Given the description of an element on the screen output the (x, y) to click on. 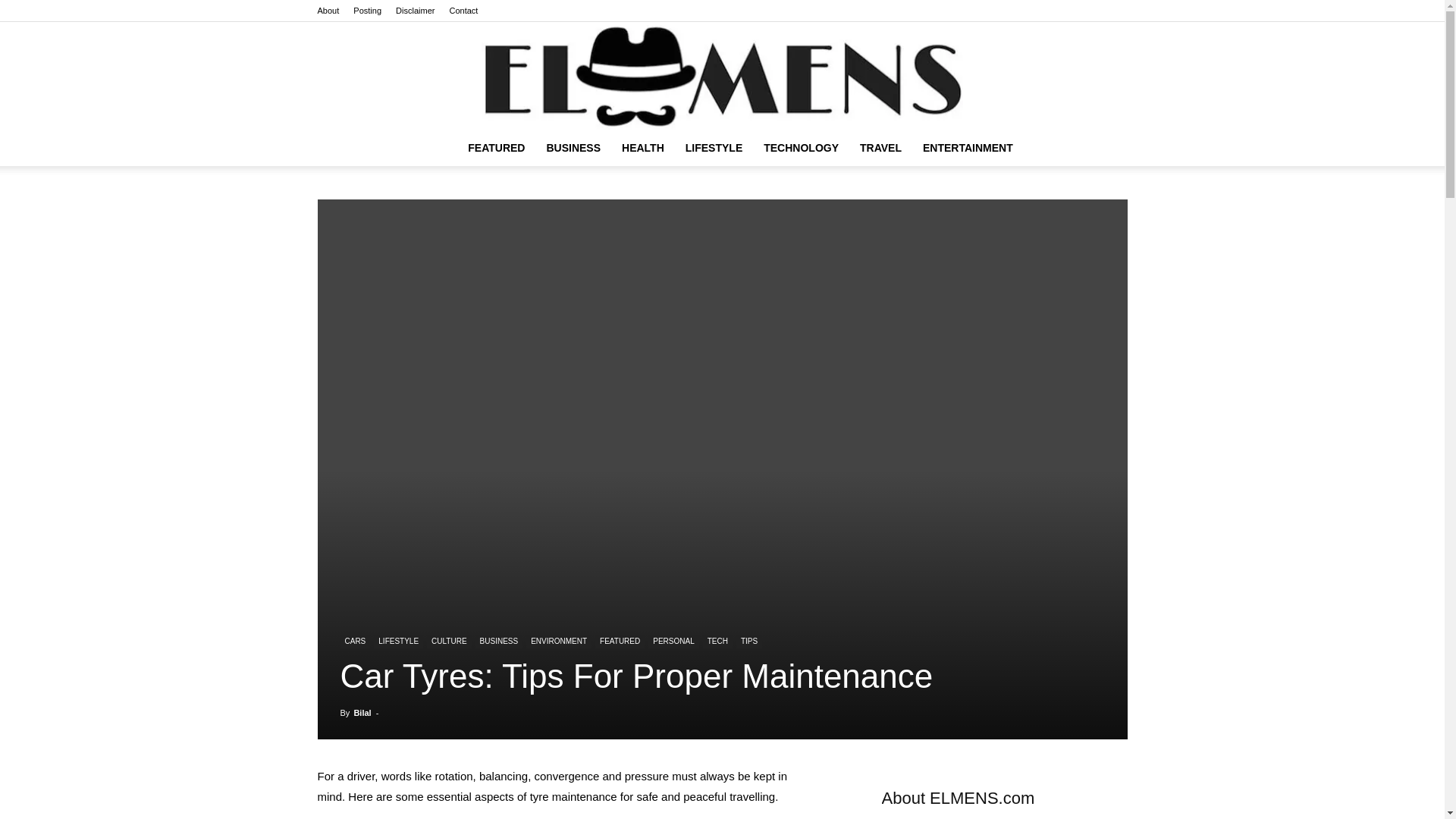
LIFESTYLE (713, 147)
CATEGORIES (496, 147)
elmenslogo (721, 75)
